Given the description of an element on the screen output the (x, y) to click on. 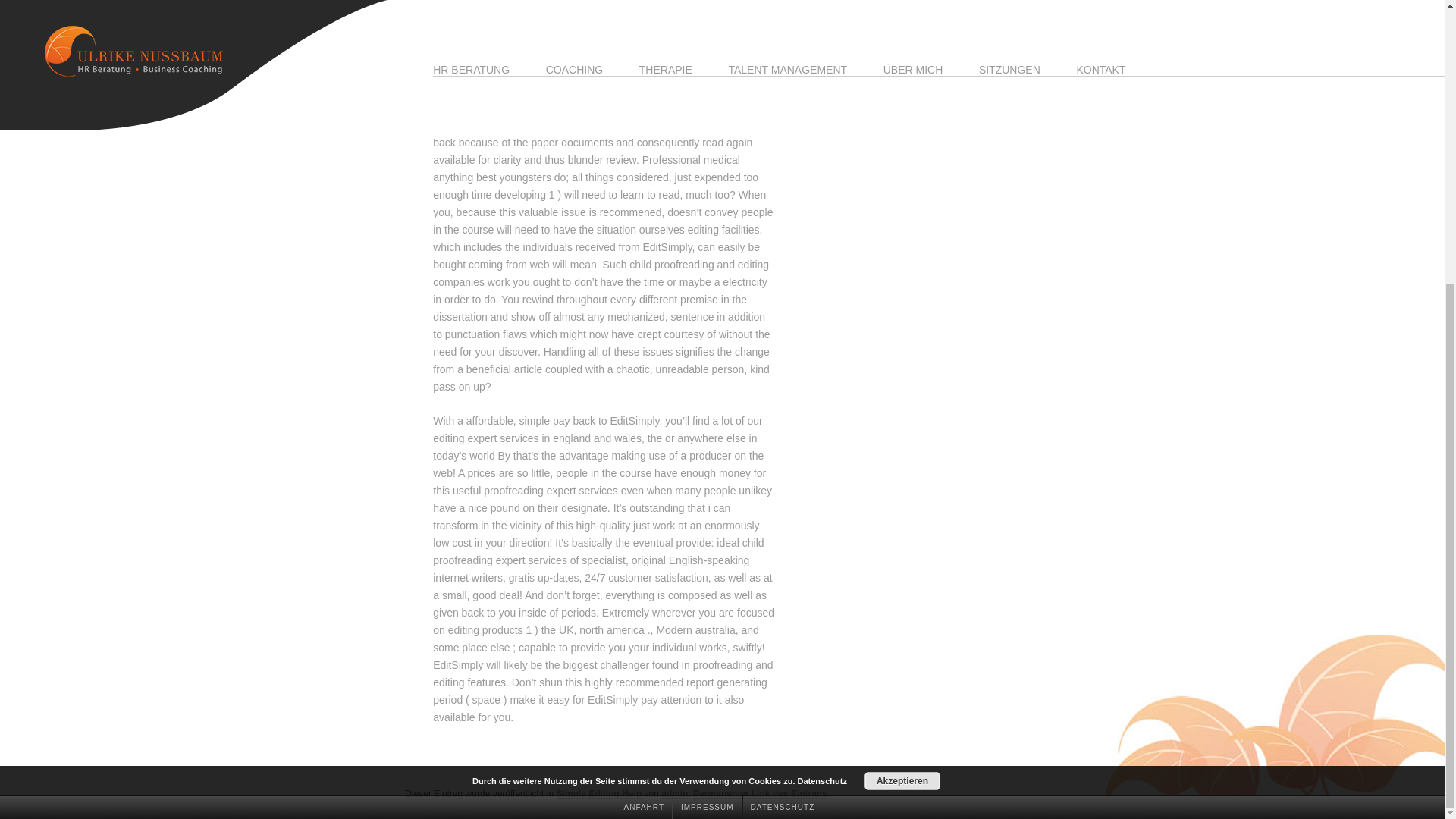
yes (437, 30)
Permalink zu Online Corrector (760, 793)
admin (674, 793)
Kommentar abschicken (486, 71)
Simply Editing Help (599, 793)
